Given the description of an element on the screen output the (x, y) to click on. 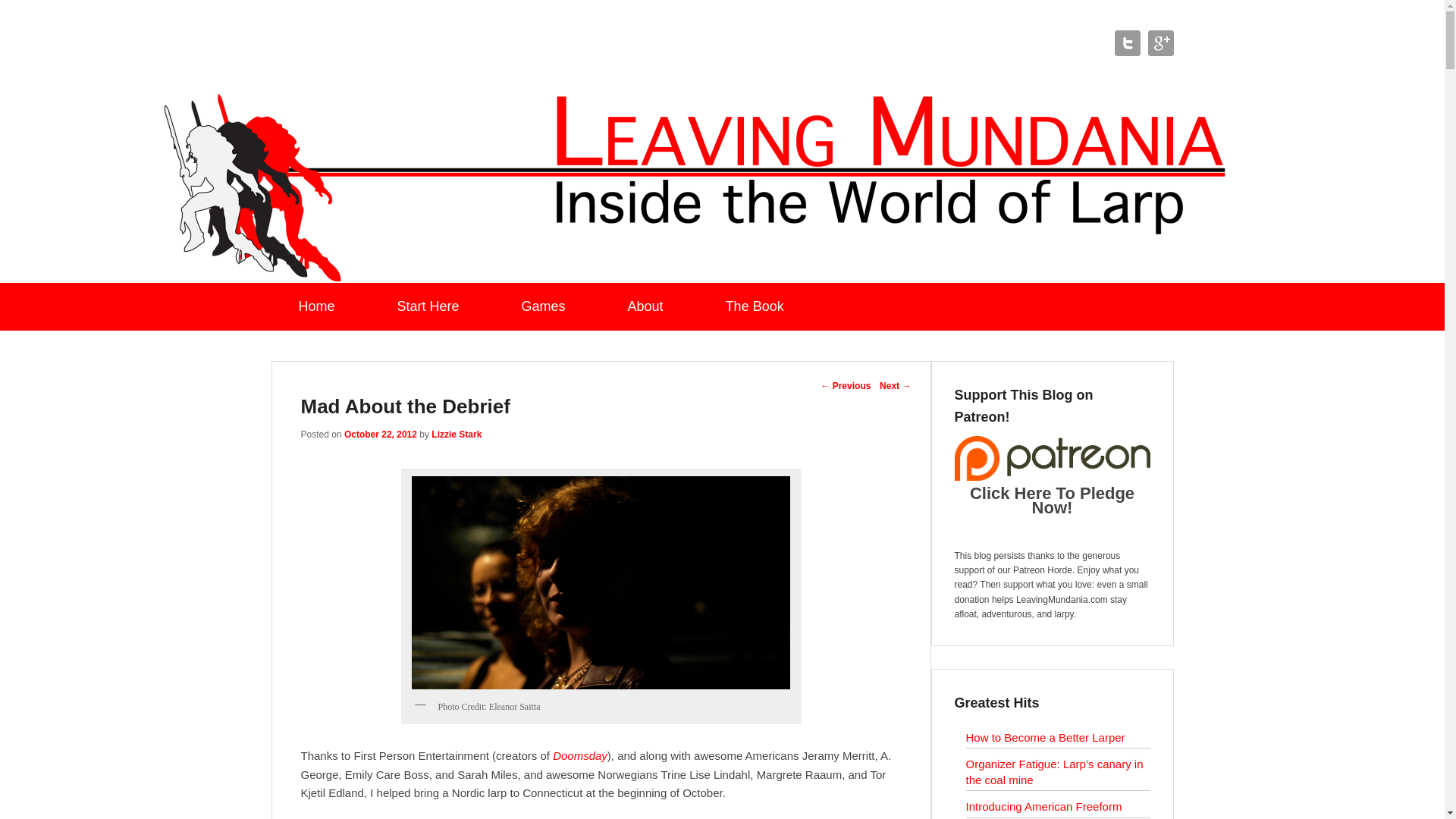
View all posts by Lizzie Stark (455, 434)
Lizzie Stark (455, 434)
Leaving Mundania Twitter (1127, 43)
Skip to primary content (58, 291)
Home (316, 306)
A060069-edit1 (601, 582)
Leaving Mundania (422, 48)
Skip to secondary content (65, 291)
Doomsday (580, 755)
Leaving Mundania (422, 48)
Skip to primary content (58, 291)
October 22, 2012 (379, 434)
11:15 am (379, 434)
The Book (754, 306)
Games (543, 306)
